Given the description of an element on the screen output the (x, y) to click on. 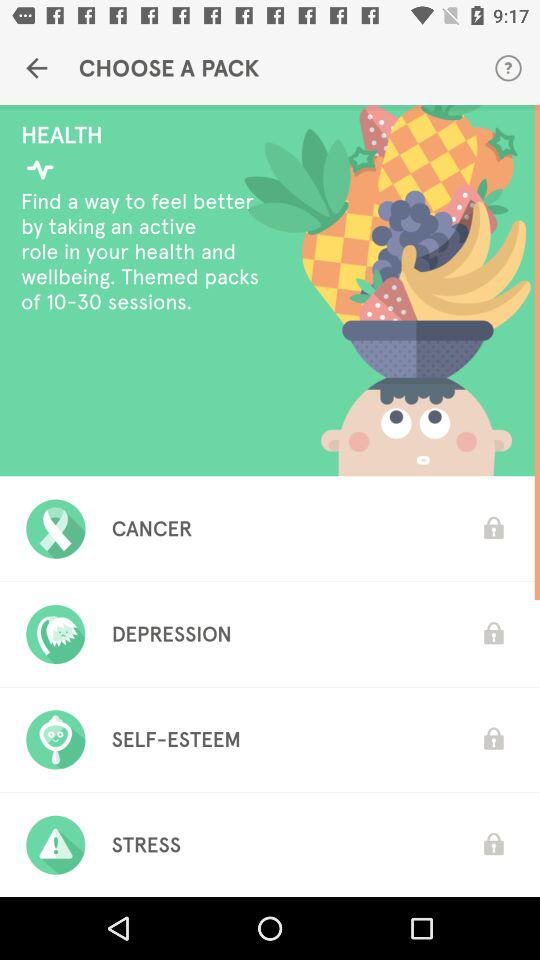
click find a way icon (145, 251)
